Given the description of an element on the screen output the (x, y) to click on. 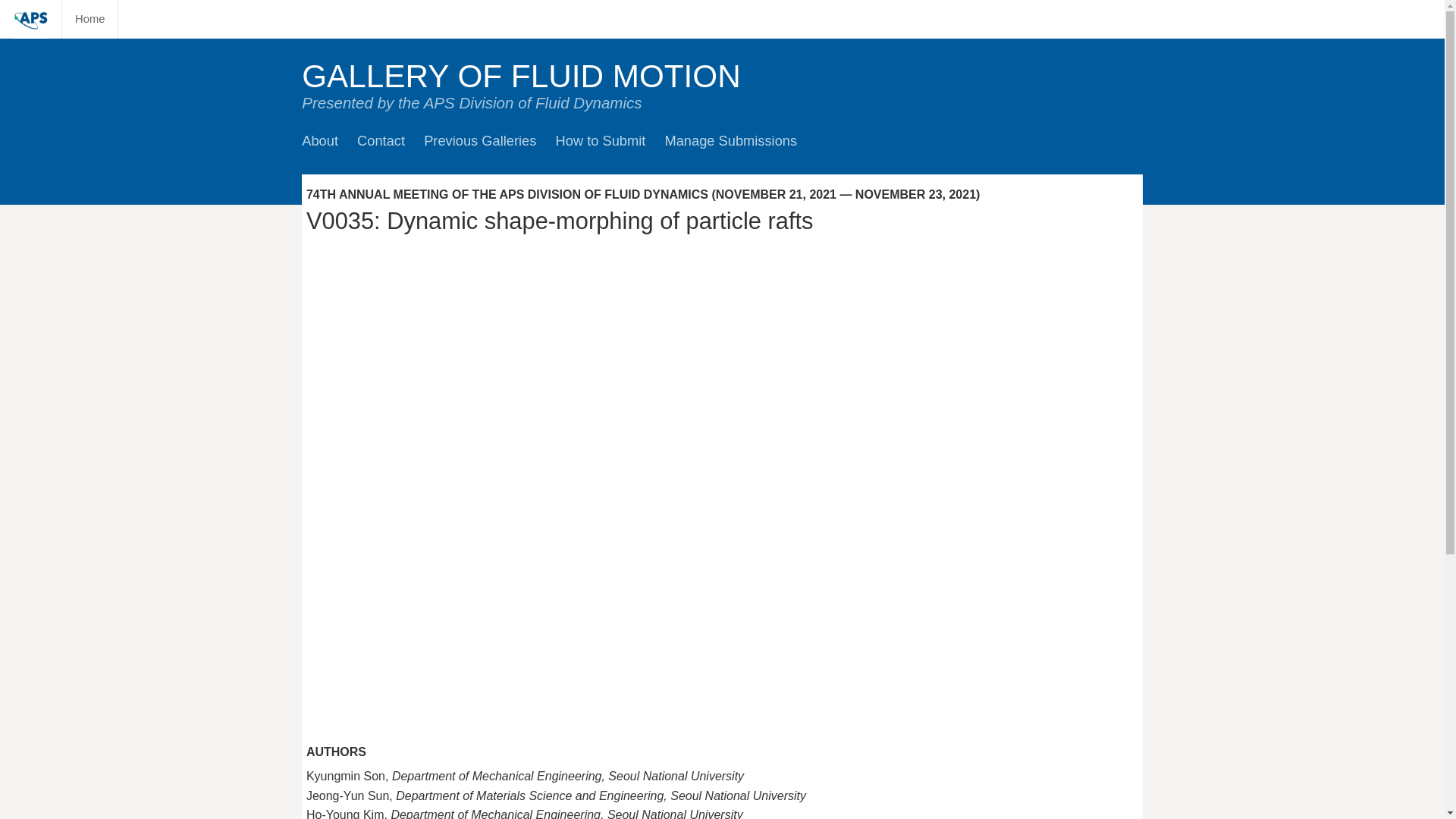
How to Submit (601, 140)
Manage Submissions (729, 140)
About (319, 140)
Contact (380, 140)
GALLERY OF FLUID MOTION (521, 76)
Home (89, 18)
Previous Galleries (479, 140)
